Given the description of an element on the screen output the (x, y) to click on. 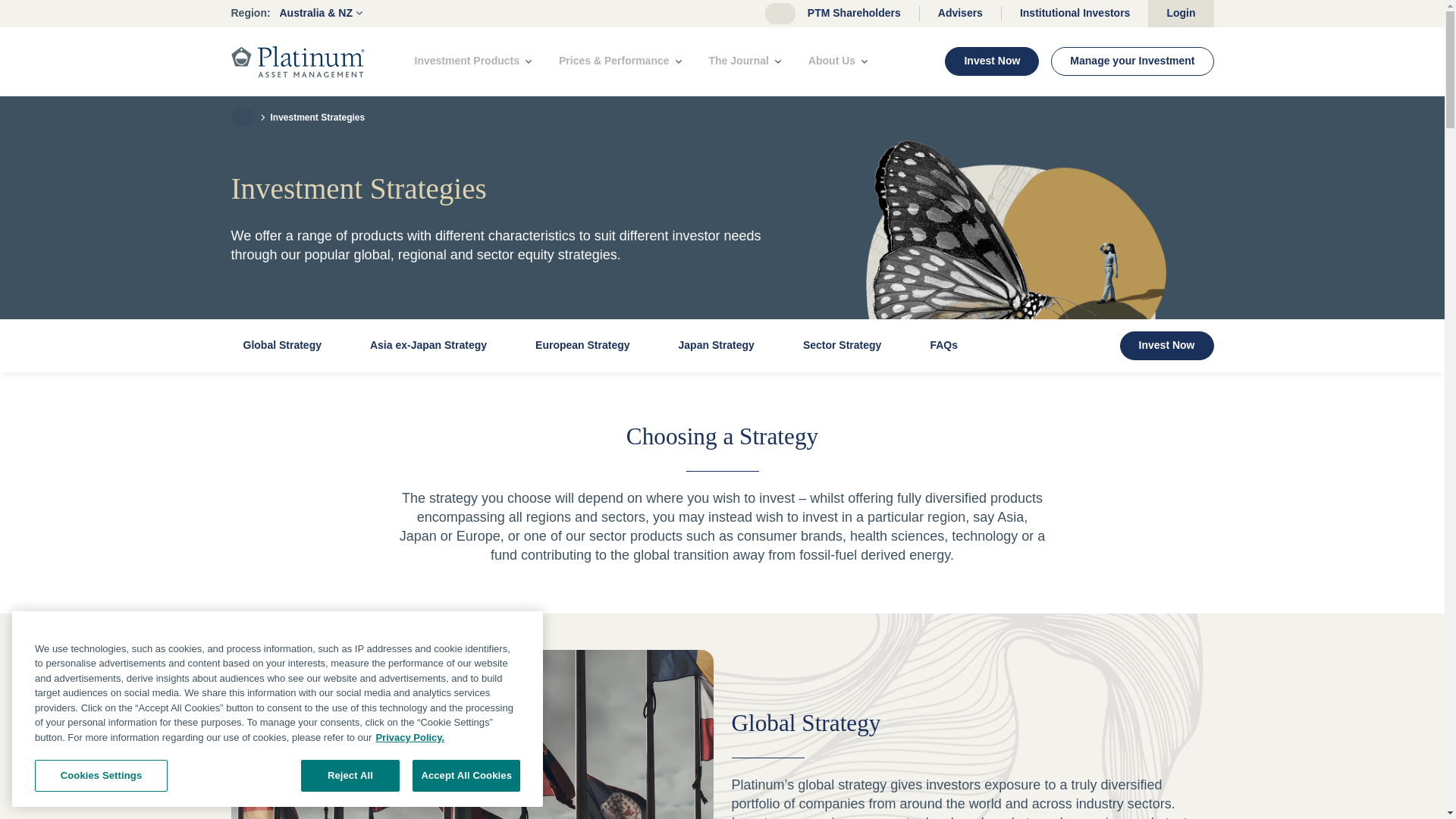
Platinum Asset Management Logo (297, 61)
Global Strategy (471, 734)
PTM Shareholders (854, 12)
Institutional Investors (1074, 12)
Login (1180, 13)
Advisers (959, 12)
Investment Products (473, 61)
